Given the description of an element on the screen output the (x, y) to click on. 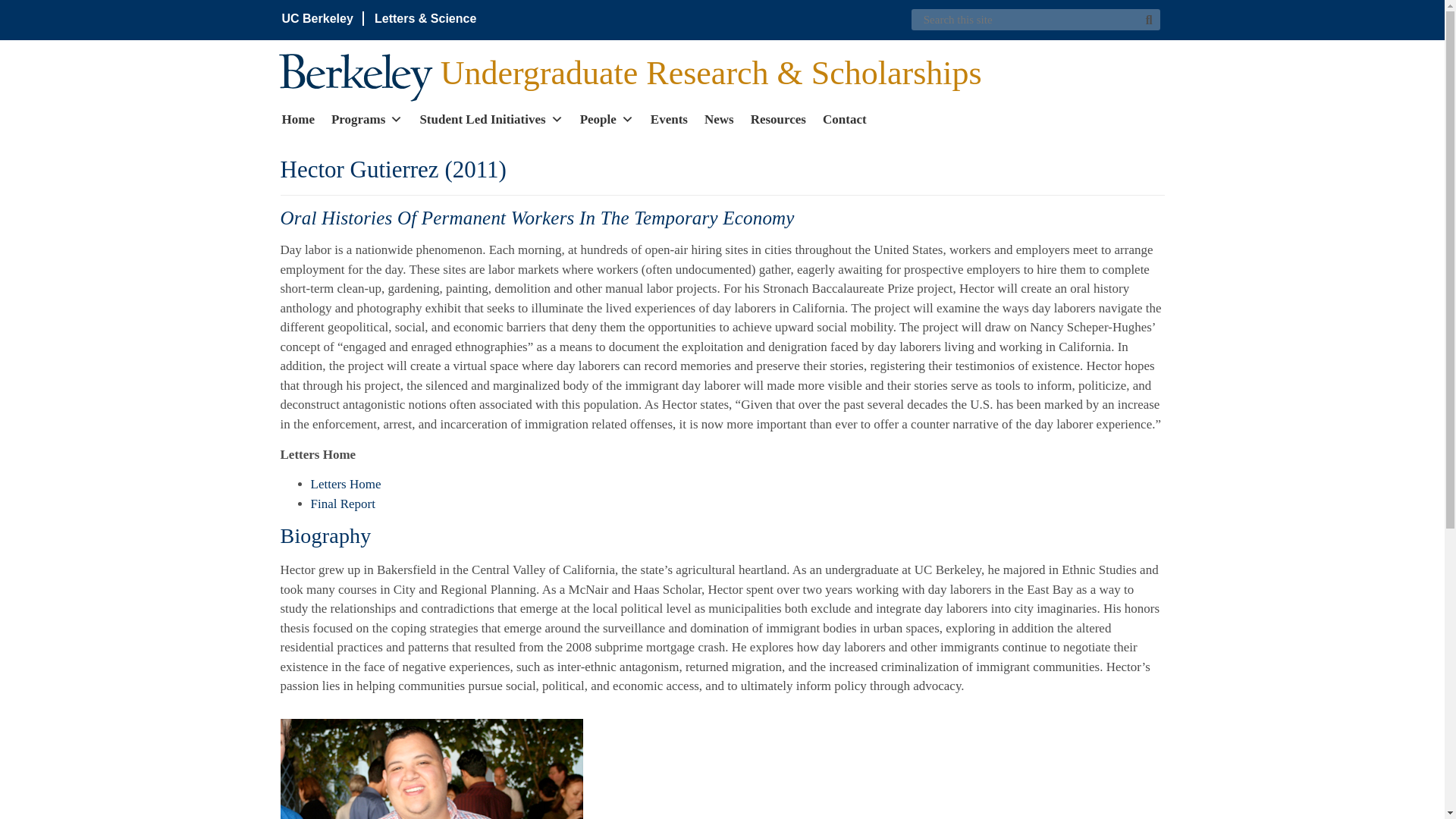
Home (298, 118)
Resources (778, 118)
Letters Home (346, 483)
Student Led Initiatives (490, 118)
People (606, 118)
Events (668, 118)
Programs (367, 118)
UC Berkeley (317, 18)
Final Report (343, 503)
Contact (844, 118)
